Given the description of an element on the screen output the (x, y) to click on. 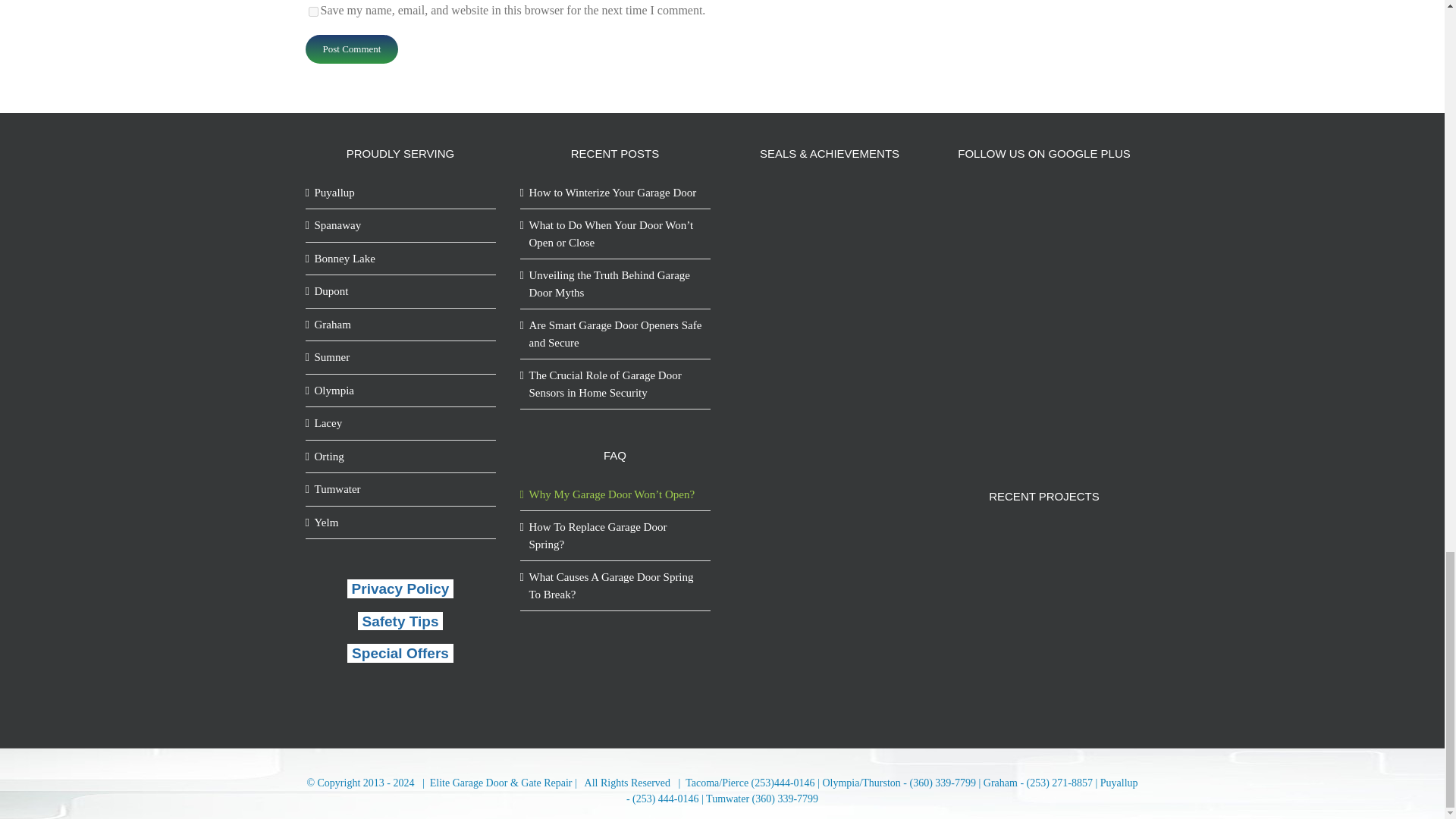
Post Comment (350, 49)
yes (312, 11)
